Given the description of an element on the screen output the (x, y) to click on. 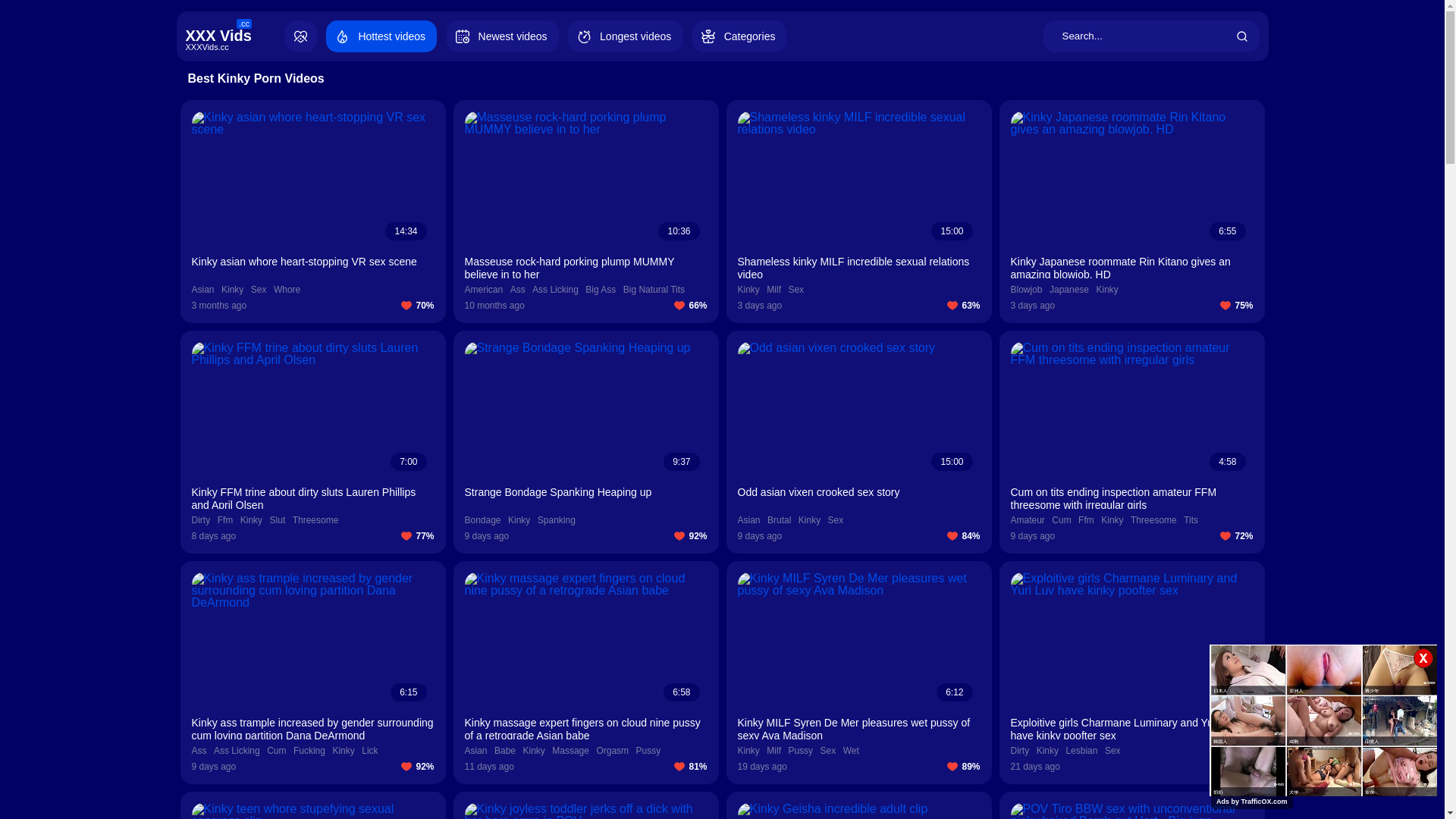
Tits Element type: text (1190, 519)
Threesome Element type: text (315, 519)
Lick Element type: text (369, 750)
Ffm Element type: text (1086, 519)
Kinky Element type: text (232, 289)
Pussy Element type: text (799, 750)
American Element type: text (483, 289)
6:55 Element type: text (1131, 179)
8:59 Element type: text (1131, 640)
Asian Element type: text (202, 289)
Search X Videos Element type: hover (1151, 36)
Ass Element type: text (517, 289)
Hottest videos Element type: text (381, 36)
4:58 Element type: text (1131, 410)
Kinky Element type: text (251, 519)
Kinky asian whore heart-stopping VR sex scene Element type: text (312, 266)
Japanese Element type: text (1068, 289)
Ass Element type: text (198, 750)
Sex Element type: text (1112, 750)
6:58 Element type: text (585, 640)
Ads by TrafficOX.com Element type: text (1251, 801)
Pussy Element type: text (648, 750)
Massage Element type: text (570, 750)
Odd asian vixen crooked sex story Element type: text (858, 497)
Sex Element type: text (795, 289)
XXX Vids
.cc
XXXVids.cc Element type: text (233, 35)
Babe Element type: text (504, 750)
Kinky Element type: text (1047, 750)
Ass Licking Element type: text (555, 289)
Threesome Element type: text (1153, 519)
15:00 Element type: text (858, 410)
Asian Element type: text (475, 750)
6:12 Element type: text (858, 640)
Sex Element type: text (836, 519)
6:15 Element type: text (312, 640)
Kinky Element type: text (533, 750)
Kinky Element type: text (748, 750)
7:00 Element type: text (312, 410)
10:36 Element type: text (585, 179)
Dirty Element type: text (200, 519)
Big Ass Element type: text (600, 289)
Kinky Element type: text (1112, 519)
Brutal Element type: text (778, 519)
Lesbian Element type: text (1081, 750)
9:37 Element type: text (585, 410)
Ass Licking Element type: text (236, 750)
Categories Element type: text (739, 36)
Kinky Element type: text (809, 519)
Newest videos Element type: text (502, 36)
Bondage Element type: text (482, 519)
Ffm Element type: text (225, 519)
Kinky Element type: text (343, 750)
15:00 Element type: text (858, 179)
Big Natural Tits Element type: text (653, 289)
Asian Element type: text (748, 519)
Blowjob Element type: text (1025, 289)
Longest videos Element type: text (624, 36)
Sex Element type: text (258, 289)
Kinky Element type: text (748, 289)
Kinky Element type: text (1106, 289)
Orgasm Element type: text (612, 750)
Amateur Element type: text (1027, 519)
Dirty Element type: text (1019, 750)
Cum Element type: text (275, 750)
Milf Element type: text (773, 750)
14:34 Element type: text (312, 179)
Milf Element type: text (773, 289)
Kinky Element type: text (519, 519)
Strange Bondage Spanking Heaping up Element type: text (585, 497)
Wet Element type: text (851, 750)
Sex Element type: text (828, 750)
Whore Element type: text (286, 289)
Fucking Element type: text (309, 750)
Shameless kinky MILF incredible sexual relations video Element type: text (858, 266)
Spanking Element type: text (556, 519)
Cum Element type: text (1060, 519)
Slut Element type: text (277, 519)
Masseuse rock-hard porking plump MUMMY believe in to her Element type: text (585, 266)
